Given the description of an element on the screen output the (x, y) to click on. 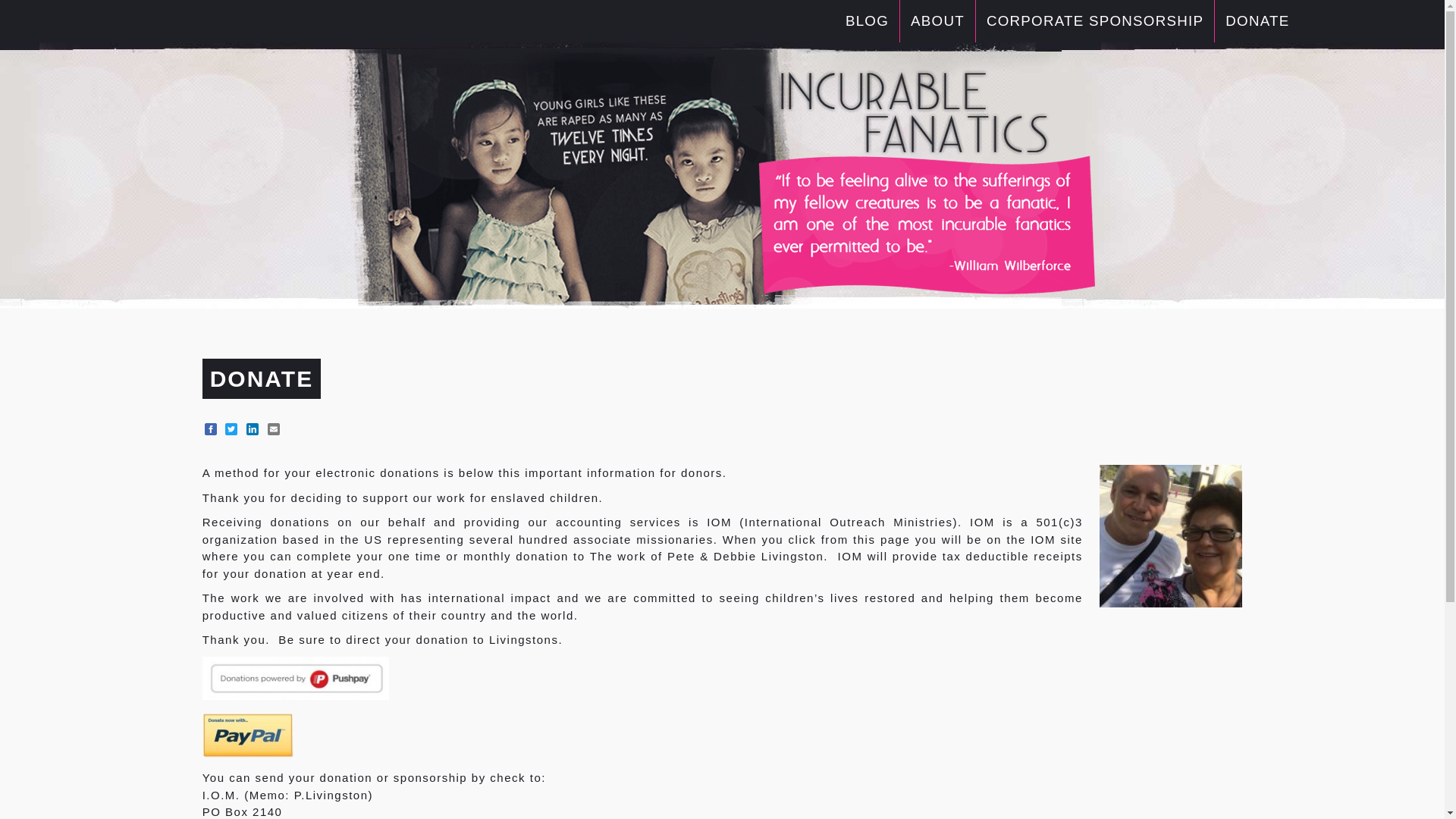
DONATE (1257, 20)
CORPORATE SPONSORSHIP (1094, 20)
BLOG (867, 20)
ABOUT (937, 20)
